Given the description of an element on the screen output the (x, y) to click on. 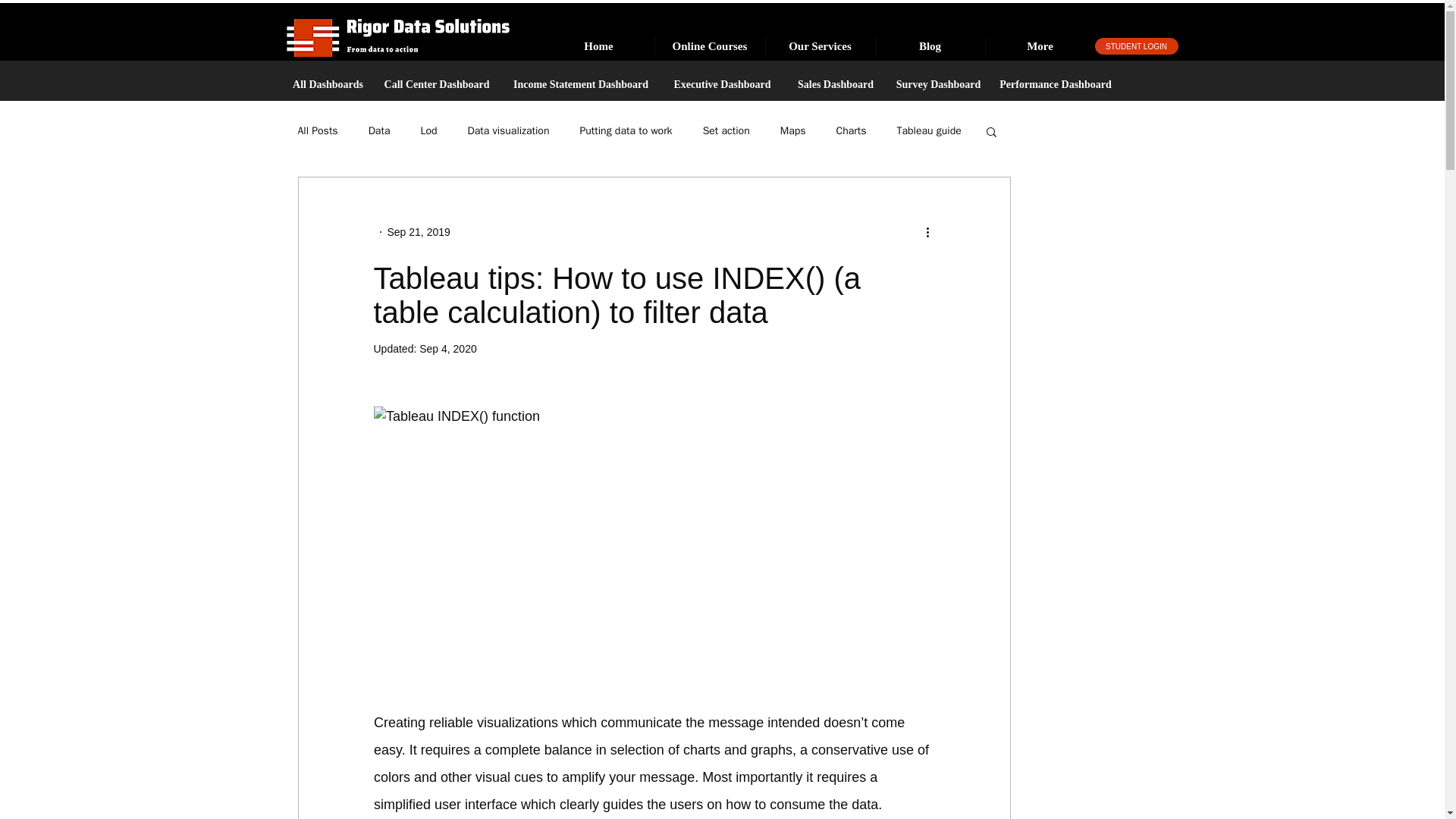
Set action (726, 131)
Data (379, 131)
Sales Dashboard (835, 84)
Survey Dashboard (937, 84)
Tableau guide (928, 131)
Income Statement Dashboard (580, 84)
Executive Dashboard (721, 84)
Charts (850, 131)
Performance Dashboard (1055, 84)
Sep 4, 2020 (448, 348)
